Given the description of an element on the screen output the (x, y) to click on. 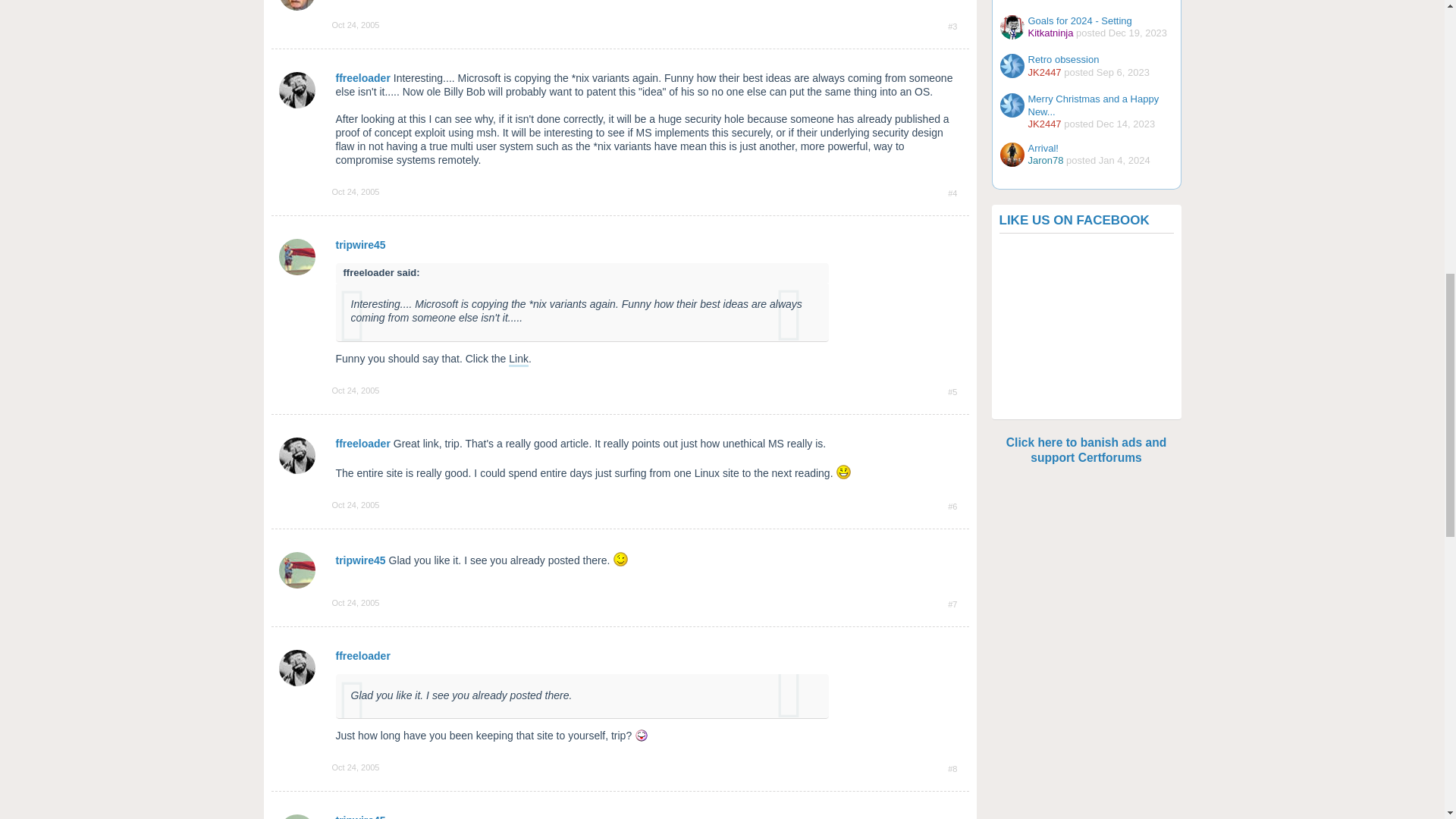
Oct 24, 2005 (355, 389)
Oct 24, 2005 (355, 504)
Permalink (355, 191)
Oct 24, 2005 (355, 191)
ffreeloader (362, 78)
ffreeloader (362, 443)
Link (518, 359)
Permalink (355, 24)
tripwire45 (359, 244)
Oct 24, 2005 (355, 24)
